Given the description of an element on the screen output the (x, y) to click on. 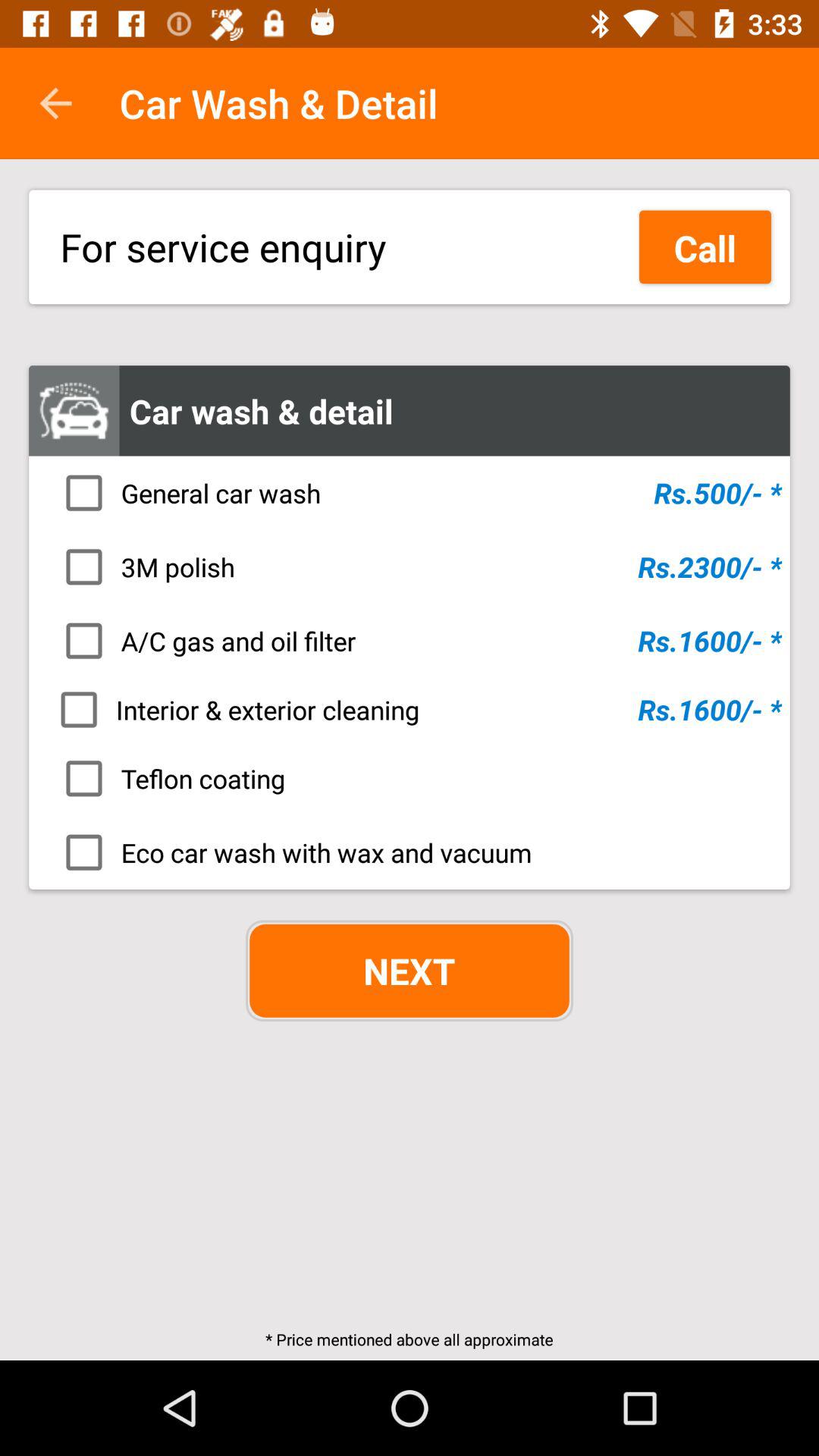
scroll until the interior & exterior cleaning (414, 709)
